Given the description of an element on the screen output the (x, y) to click on. 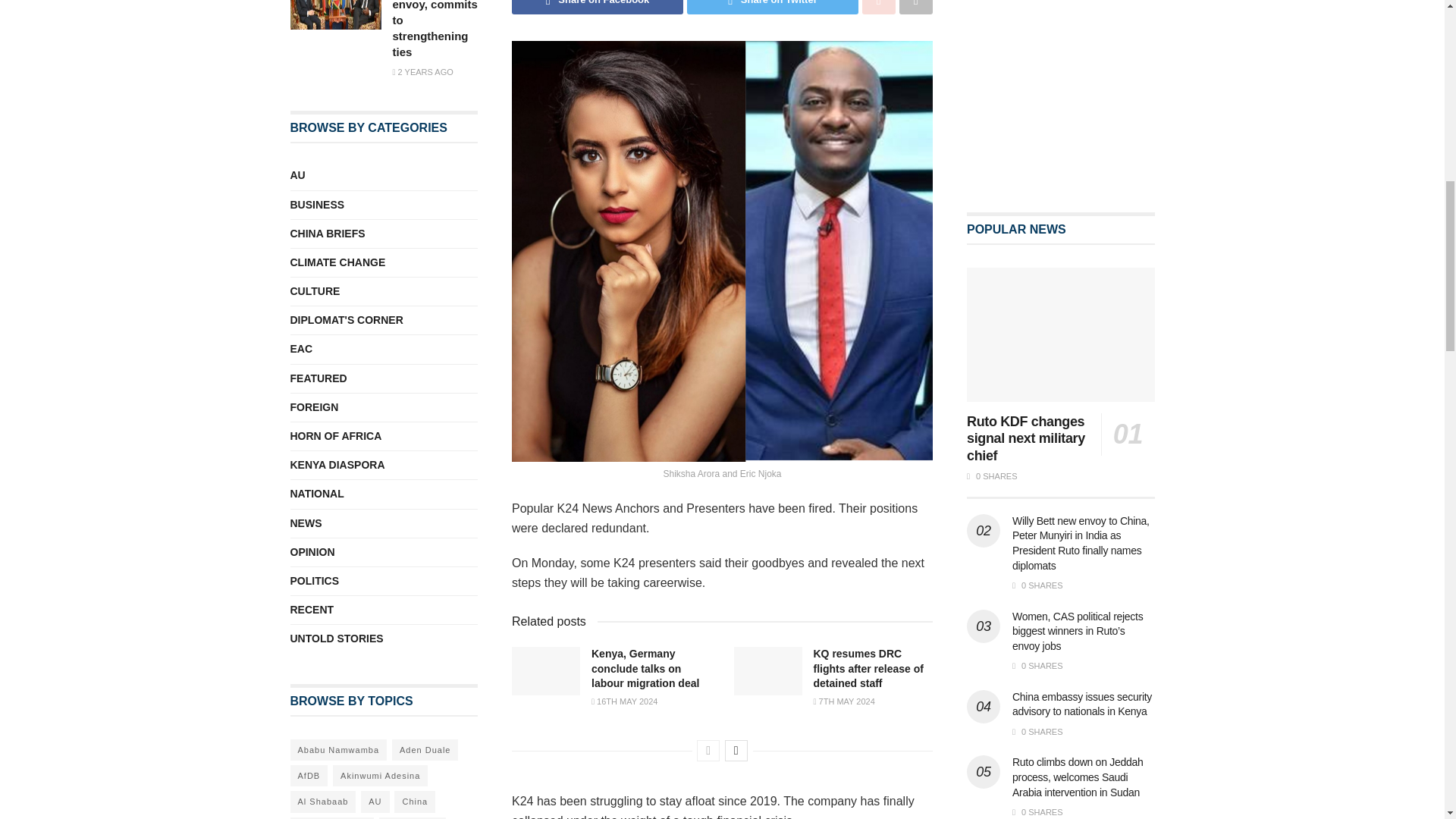
Previous (708, 750)
You can add some category description here. (316, 493)
Advertisement (1079, 75)
Share on Facebook (597, 7)
Next (736, 750)
Share on Twitter (773, 7)
You can add some category description here. (314, 291)
